Given the description of an element on the screen output the (x, y) to click on. 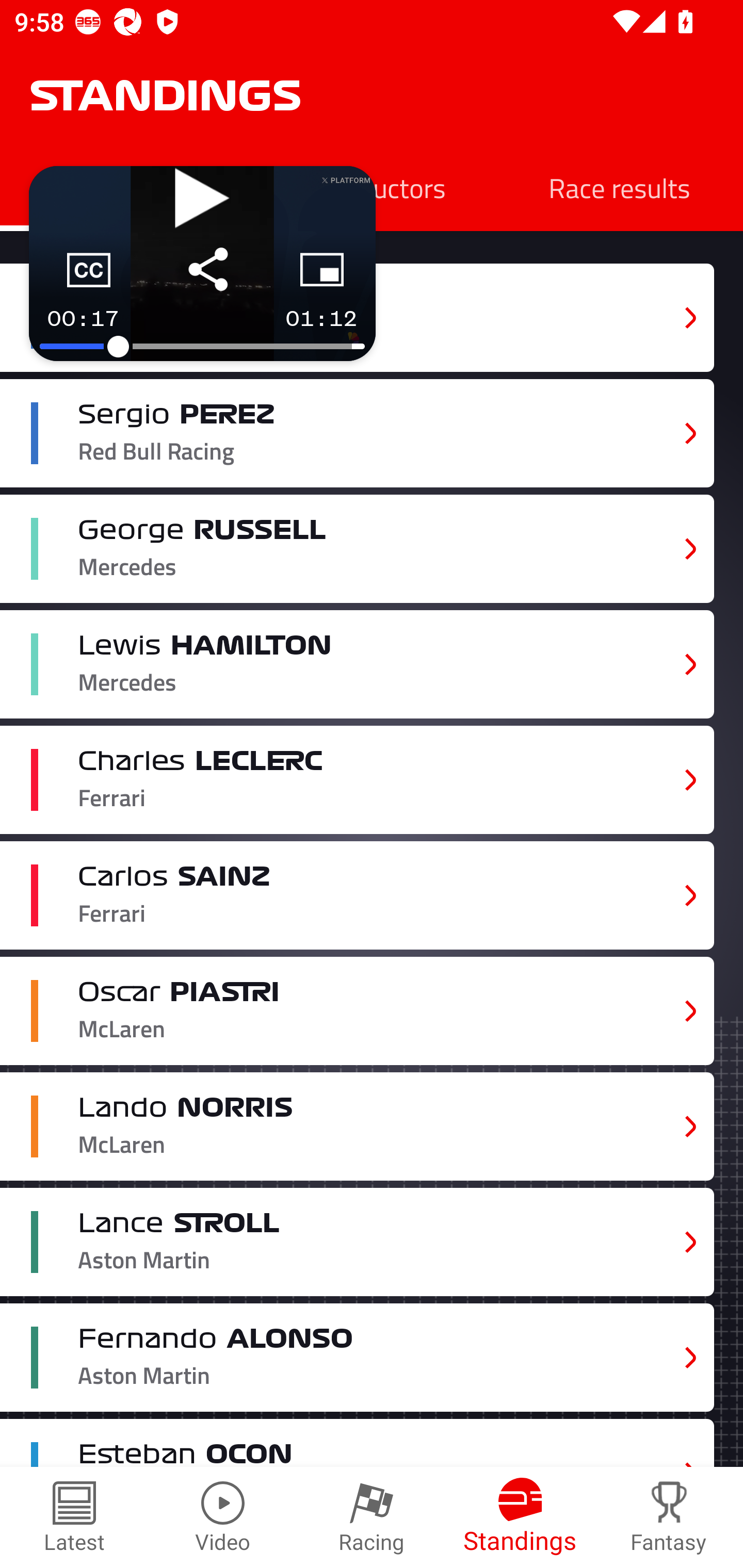
Race results (619, 187)
Sergio PEREZ Red Bull Racing (357, 433)
George RUSSELL Mercedes (357, 548)
Lewis HAMILTON Mercedes (357, 663)
Charles LECLERC Ferrari (357, 779)
Carlos SAINZ Ferrari (357, 896)
Oscar PIASTRI McLaren (357, 1010)
Lando NORRIS McLaren (357, 1126)
Lance STROLL Aston Martin (357, 1242)
Fernando ALONSO Aston Martin (357, 1357)
Latest (74, 1517)
Video (222, 1517)
Racing (371, 1517)
Fantasy (668, 1517)
